Given the description of an element on the screen output the (x, y) to click on. 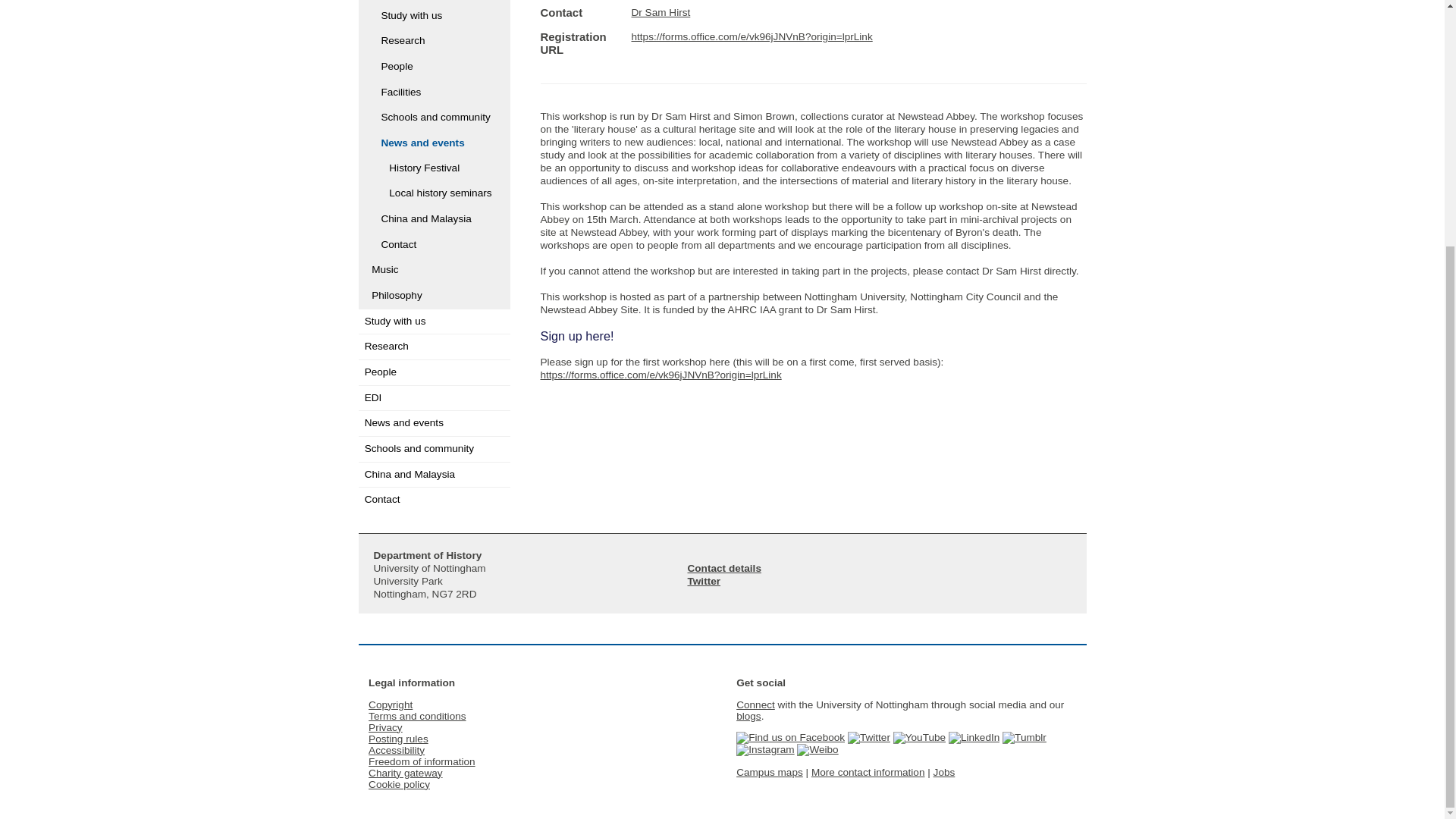
Go to History from here (433, 2)
Music (433, 269)
Research (433, 41)
Study with us (433, 321)
Contact (433, 244)
Facilities (433, 92)
News and events (433, 143)
Research (433, 346)
News and events (433, 423)
Study with us (433, 16)
